Given the description of an element on the screen output the (x, y) to click on. 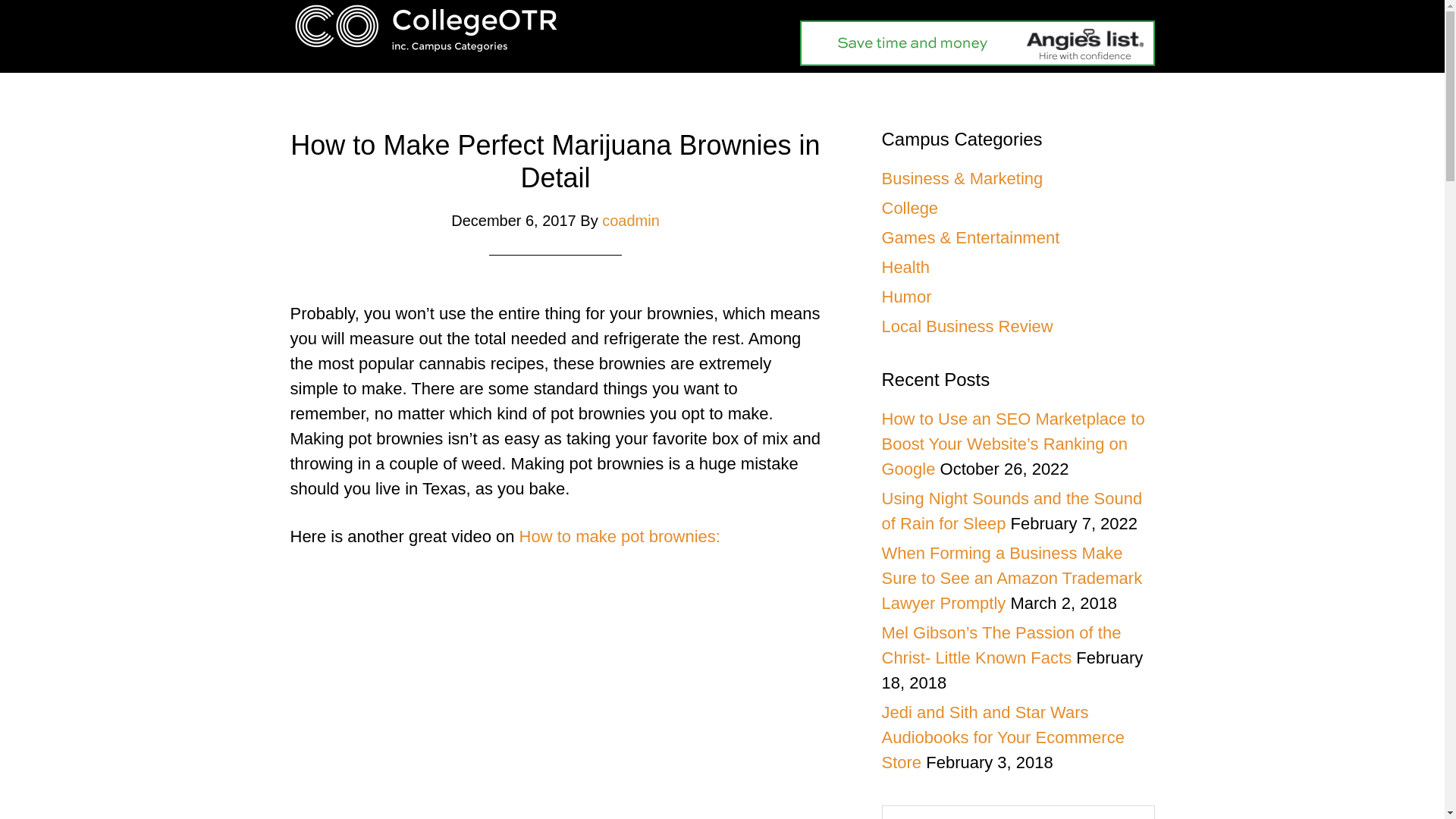
Local Business Review (966, 325)
COLLEGEOTR.COM (425, 26)
Health (905, 266)
Humor (905, 296)
coadmin (630, 220)
Using Night Sounds and the Sound of Rain for Sleep (1010, 510)
How to make pot brownies: (619, 536)
College (908, 208)
